Given the description of an element on the screen output the (x, y) to click on. 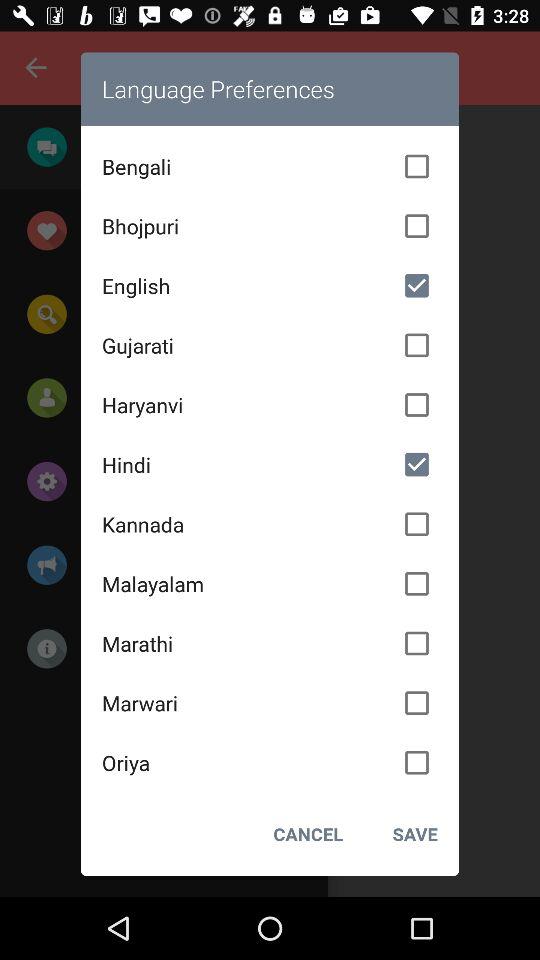
jump to the haryanvi (270, 405)
